Given the description of an element on the screen output the (x, y) to click on. 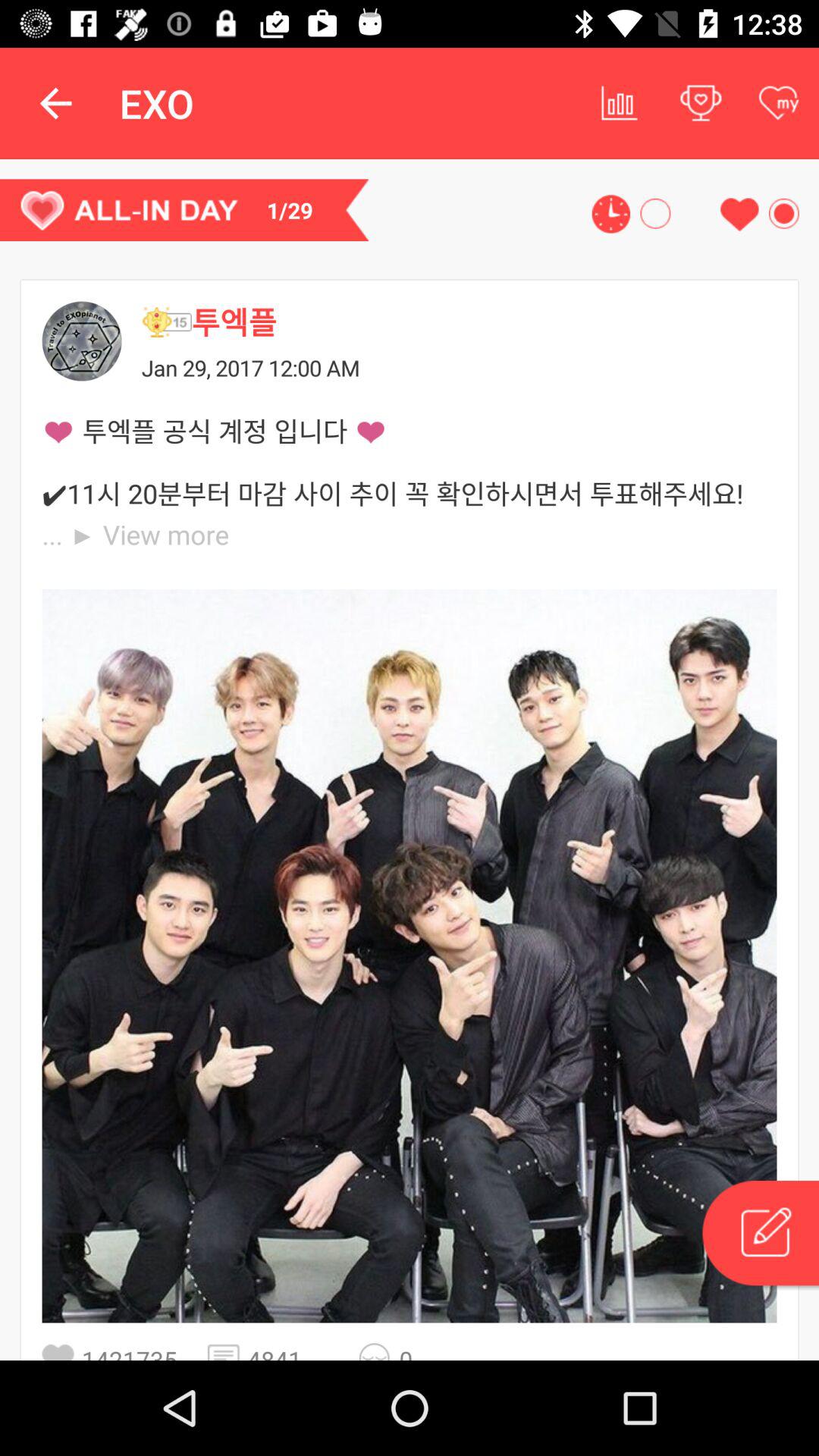
show the image (409, 955)
